Given the description of an element on the screen output the (x, y) to click on. 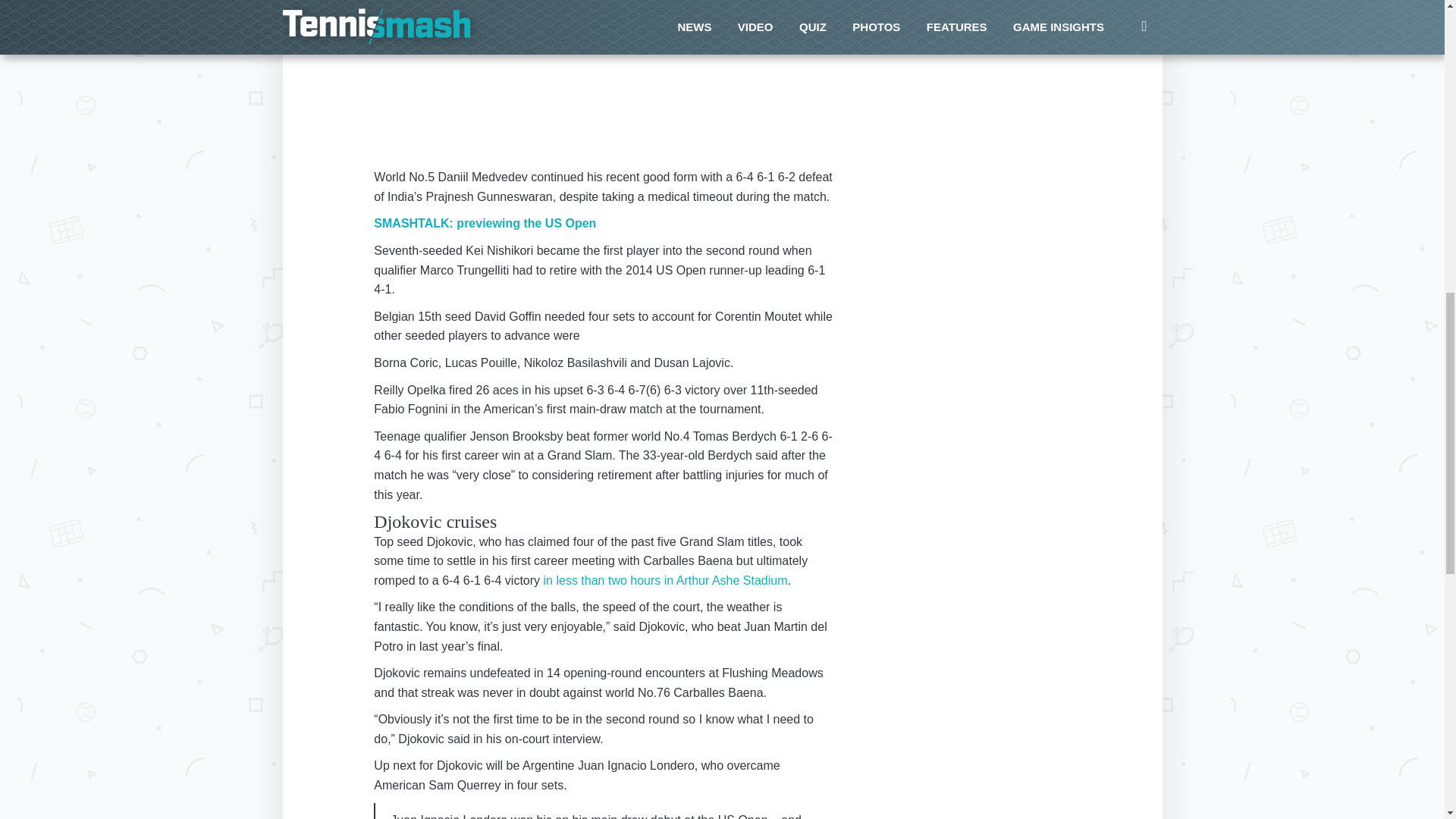
SMASHTALK: previewing the US Open (484, 223)
in less than two hours in Arthur Ashe Stadium (665, 580)
